Given the description of an element on the screen output the (x, y) to click on. 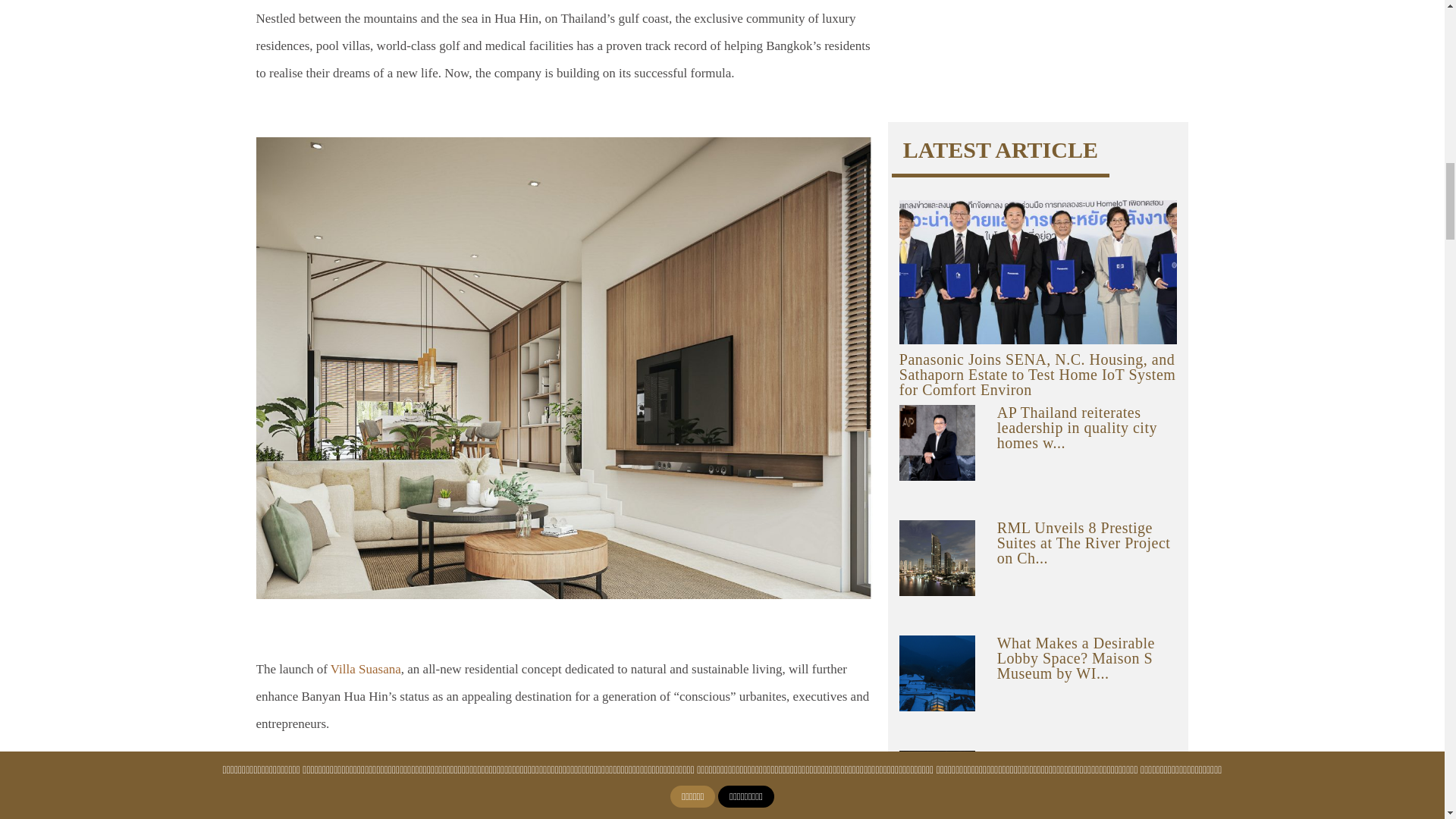
Villa Suasana (365, 668)
